Given the description of an element on the screen output the (x, y) to click on. 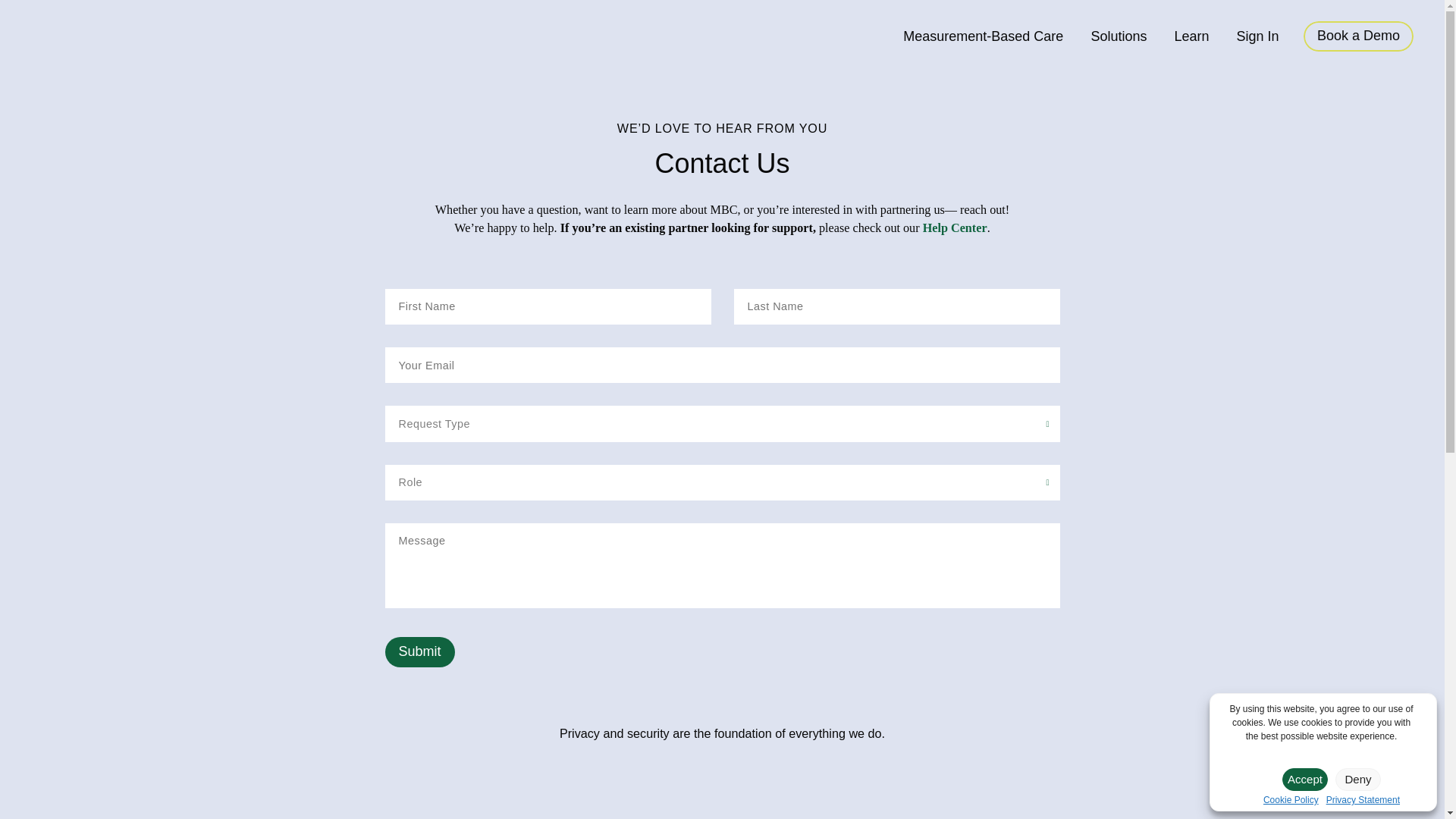
Sign In (1257, 36)
Cookie Policy (1291, 799)
Privacy Statement (1362, 799)
Measurement-Based Care (983, 36)
Accept (1304, 779)
Deny (1357, 779)
Solutions (1118, 36)
Learn (1191, 36)
